Given the description of an element on the screen output the (x, y) to click on. 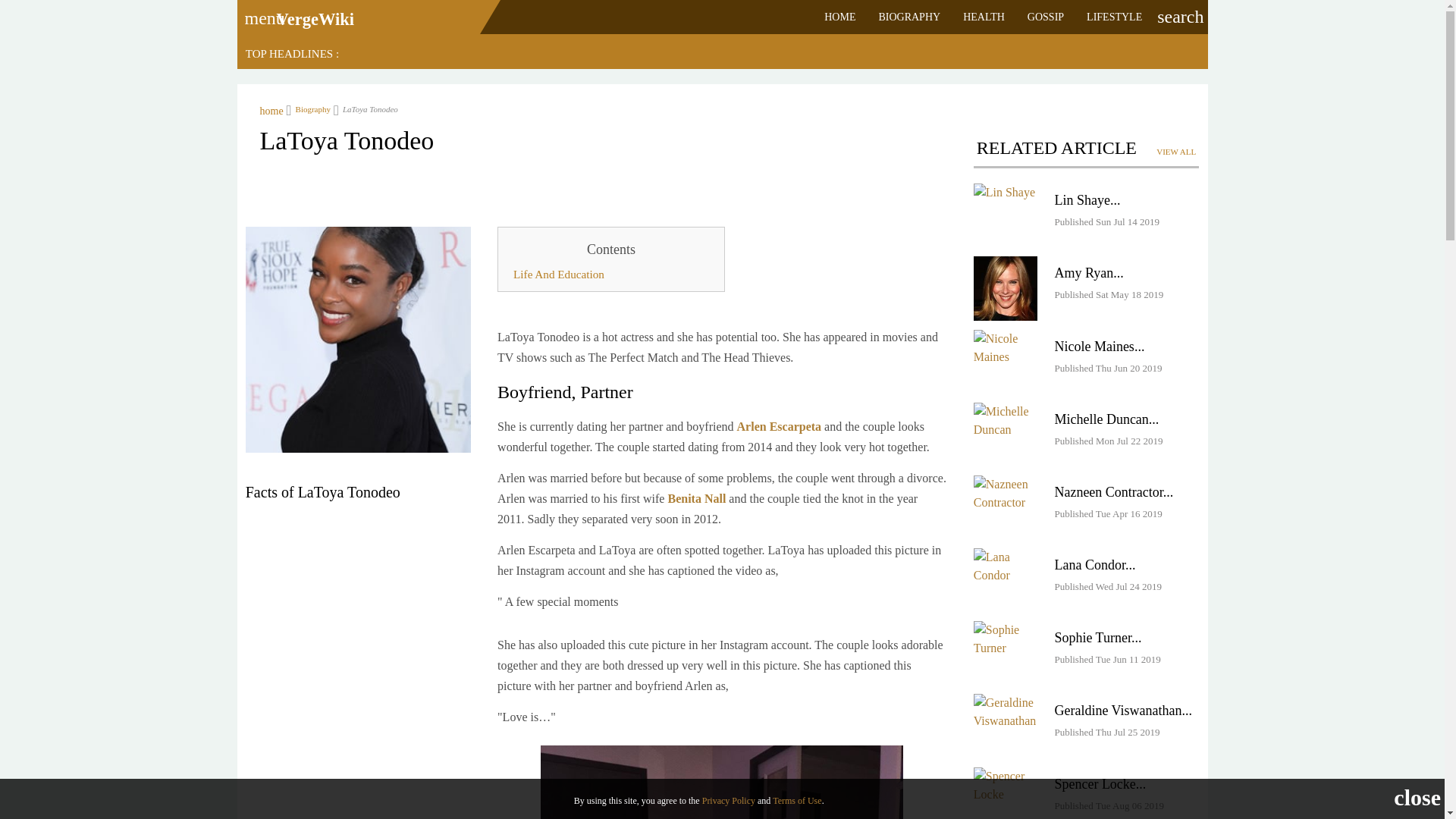
Lana Condor (1089, 564)
menu (259, 13)
Michelle Duncan (1005, 420)
Benita Nall (697, 497)
Nicole Maines (1005, 348)
BIOGRAPHY (909, 17)
HOME (839, 17)
VIEW ALL (1175, 151)
Michelle Duncan (1005, 434)
Michelle Duncan (1101, 418)
GOSSIP (1045, 17)
Nicole Maines (1005, 361)
Lana Condor (1005, 565)
Life And Education (611, 274)
LIFESTYLE (1114, 17)
